Given the description of an element on the screen output the (x, y) to click on. 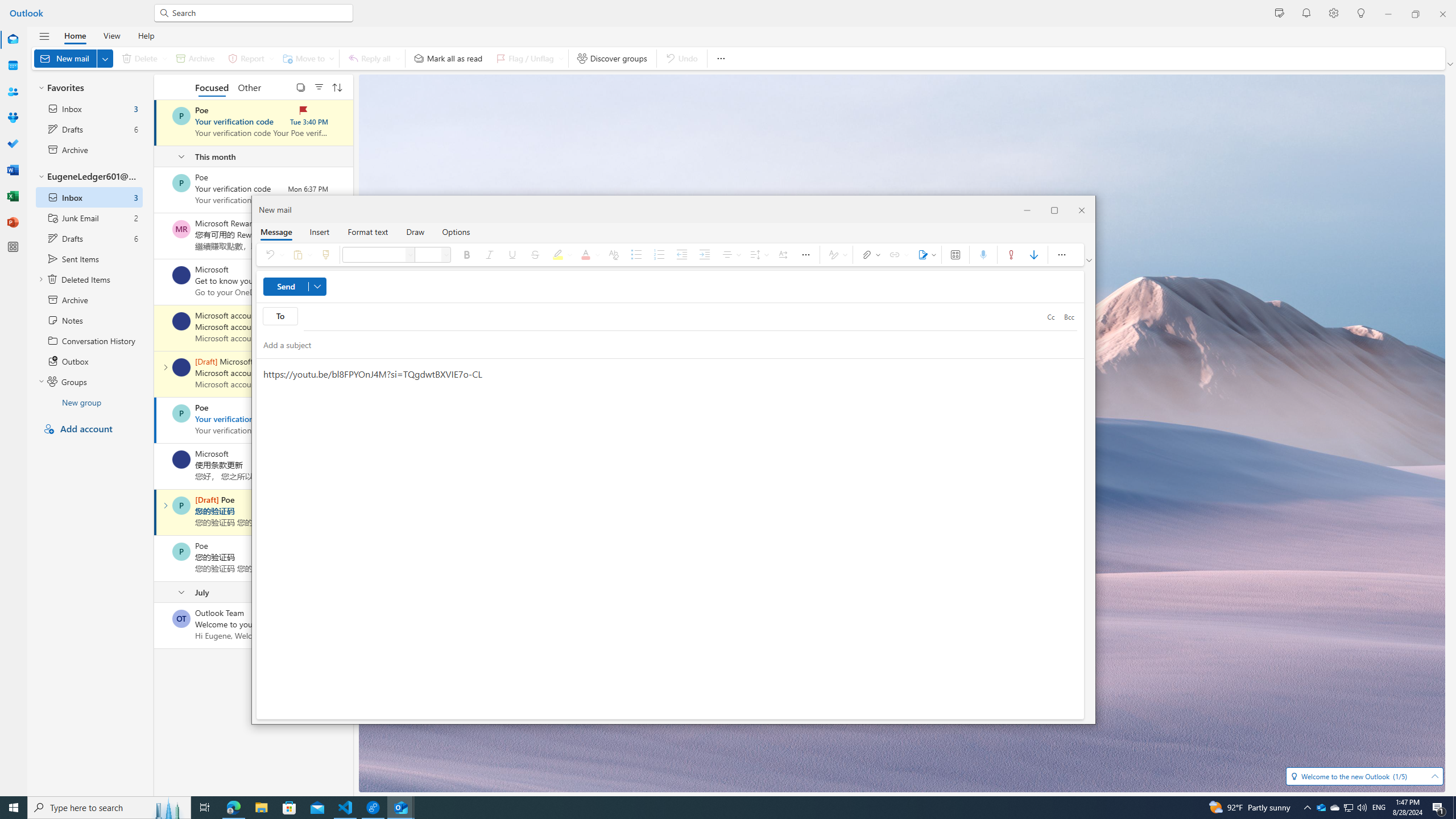
Other (248, 86)
Font size (427, 254)
Bullets (635, 254)
Signature (925, 254)
File Explorer (261, 807)
Excel (12, 196)
Help (146, 35)
Font (374, 254)
Outlook (new) - 2 running windows (400, 807)
Select (300, 86)
Microsoft Store (289, 807)
Message body, press Alt+F10 to exit (670, 538)
Options (456, 231)
